Given the description of an element on the screen output the (x, y) to click on. 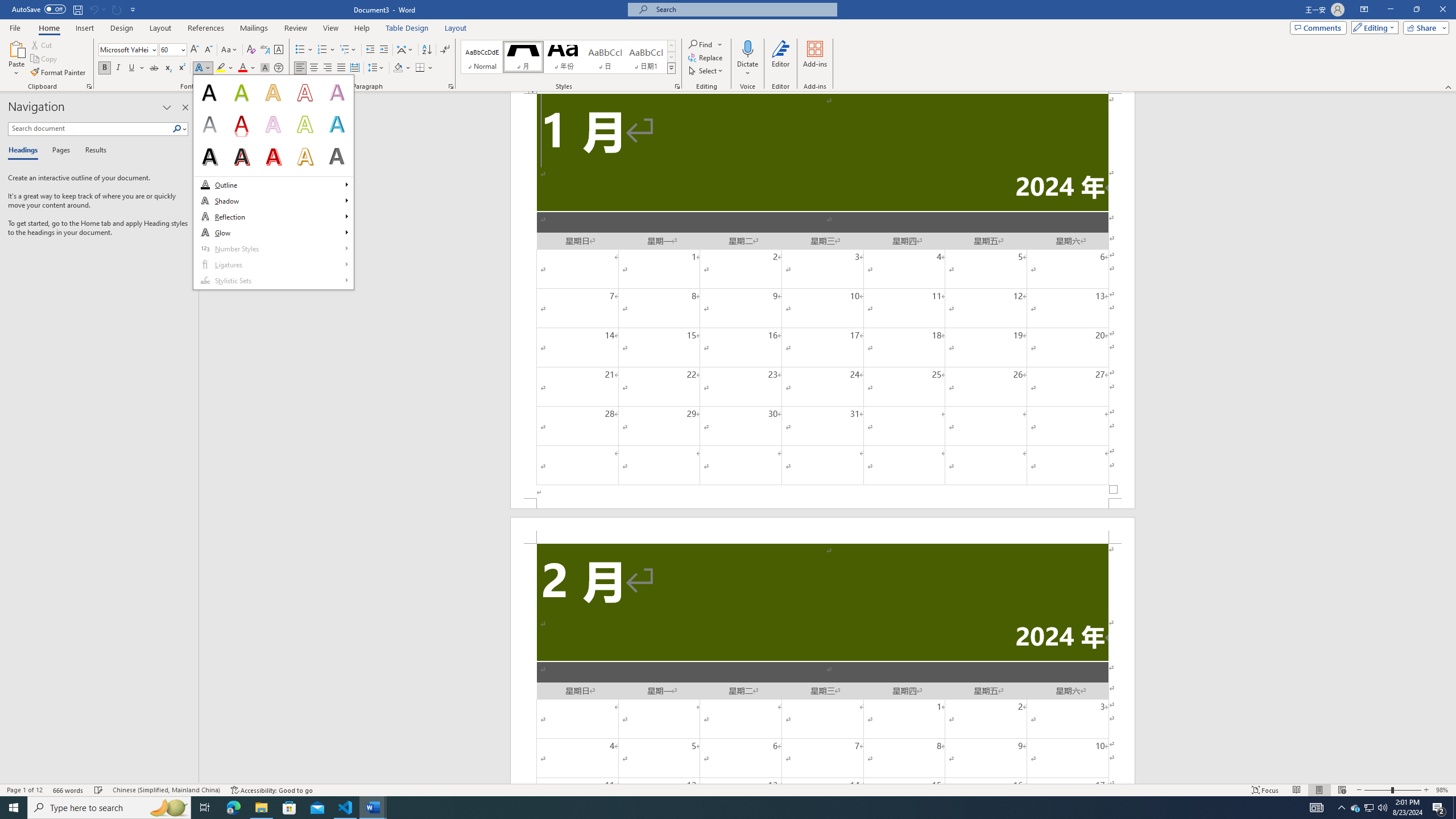
Can't Repeat (117, 9)
